Given the description of an element on the screen output the (x, y) to click on. 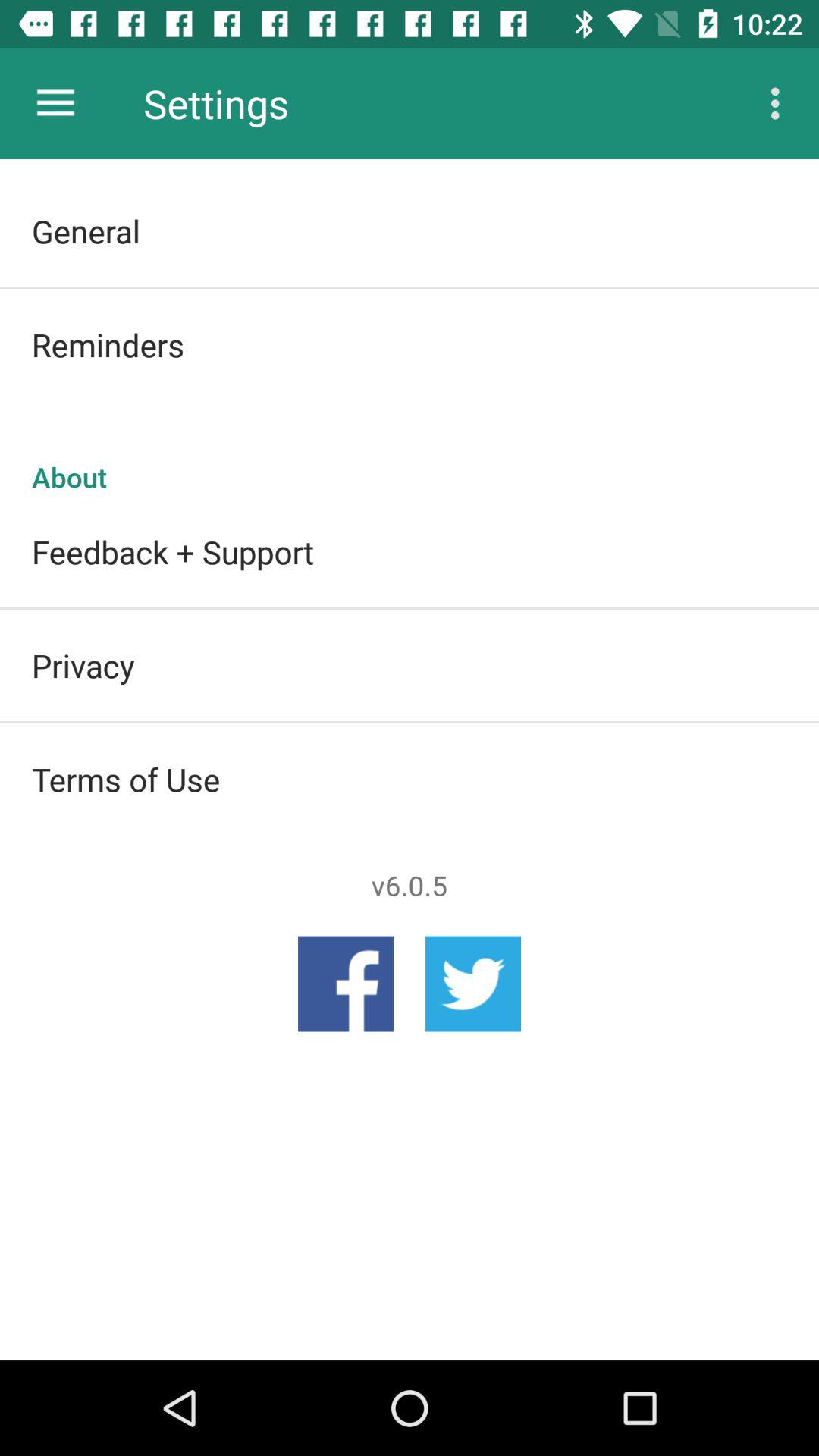
open the item above the general icon (779, 103)
